Given the description of an element on the screen output the (x, y) to click on. 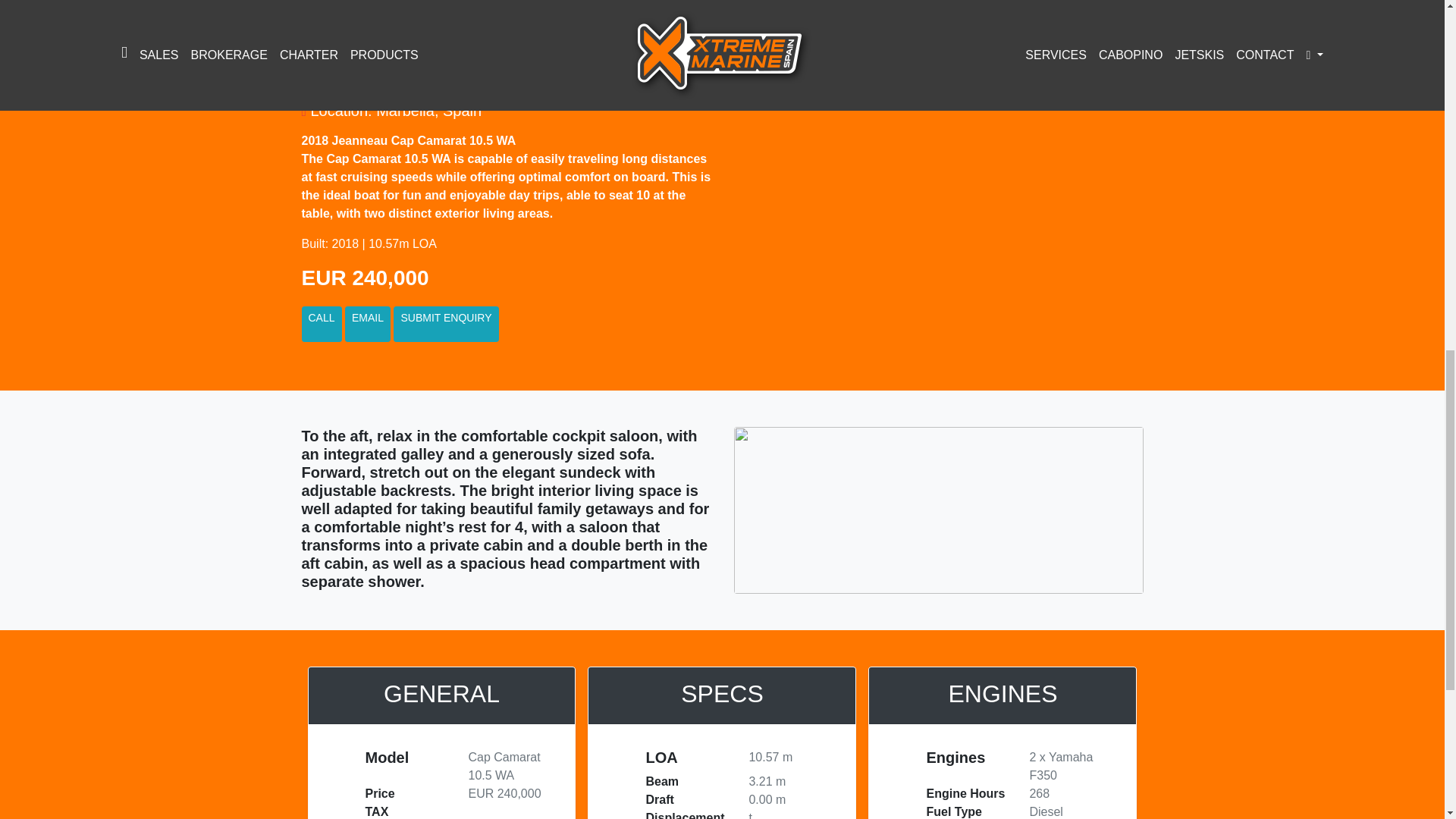
EMAIL (367, 324)
CALL (321, 324)
SUBMIT ENQUIRY (445, 324)
SUBMIT ENQUIRY (445, 324)
